Given the description of an element on the screen output the (x, y) to click on. 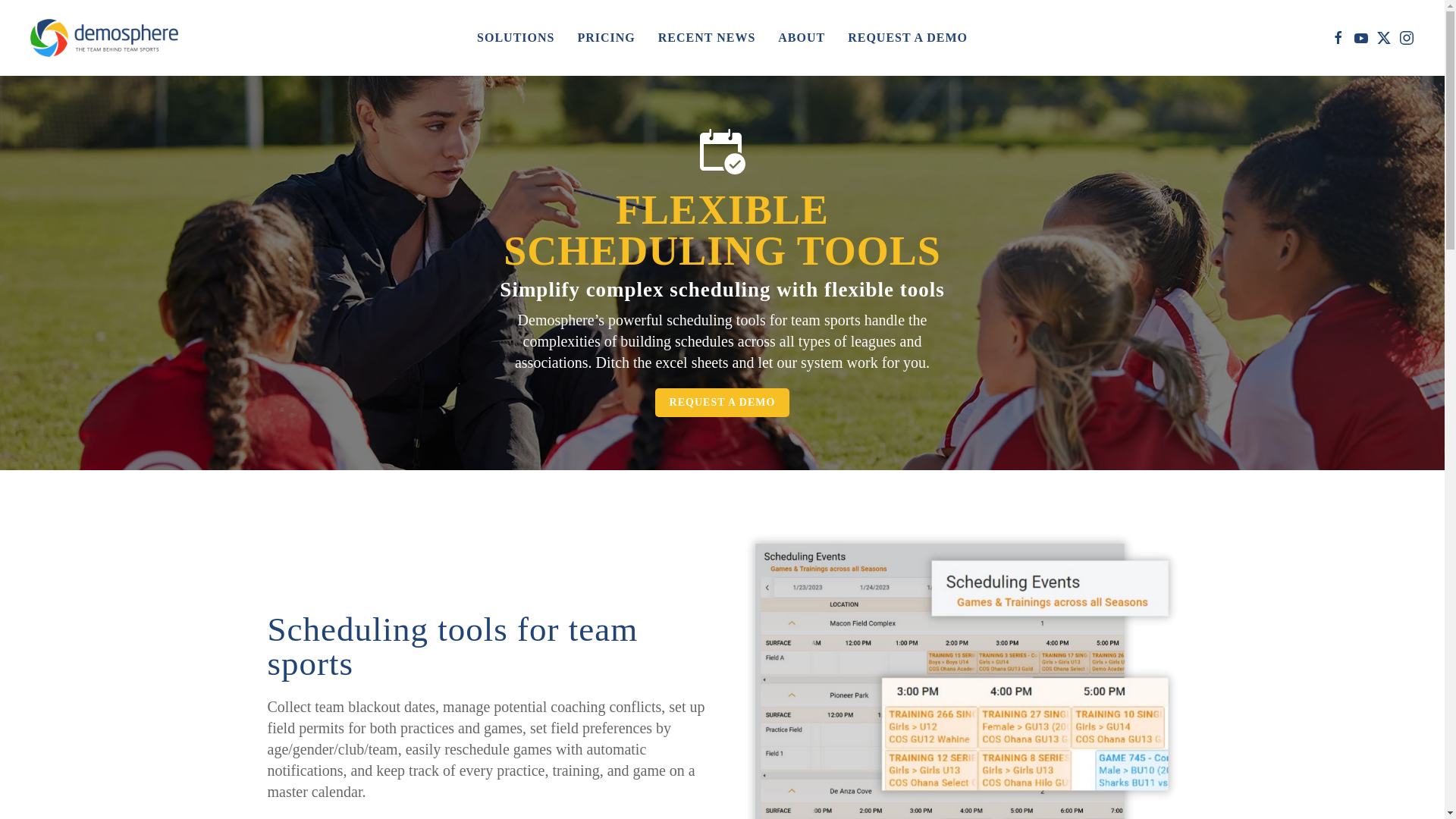
REQUEST A DEMO (907, 38)
REQUEST A DEMO (722, 402)
SOLUTIONS (515, 38)
RECENT NEWS (706, 38)
